Given the description of an element on the screen output the (x, y) to click on. 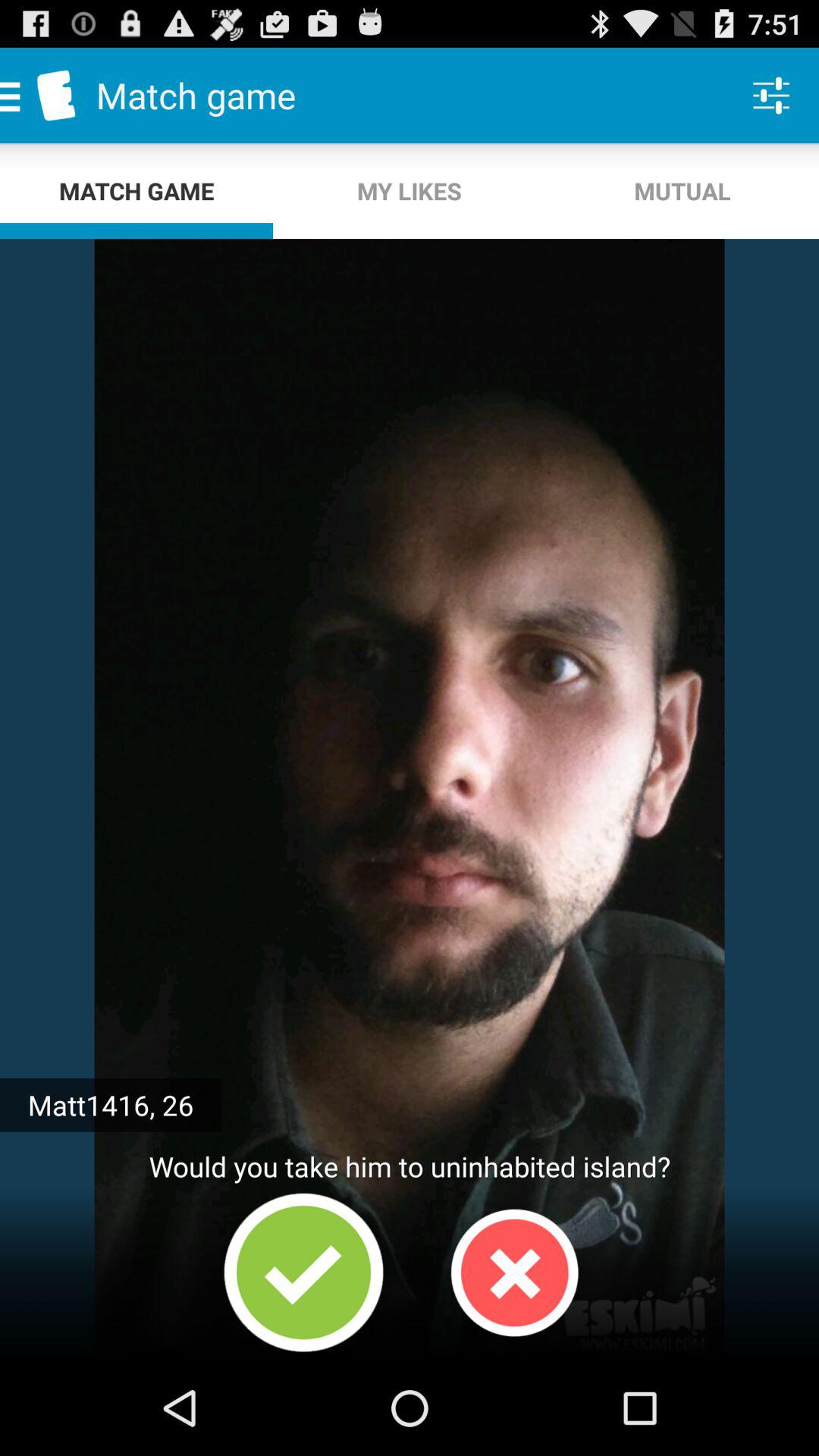
turn off the app to the right of the my likes item (682, 190)
